Given the description of an element on the screen output the (x, y) to click on. 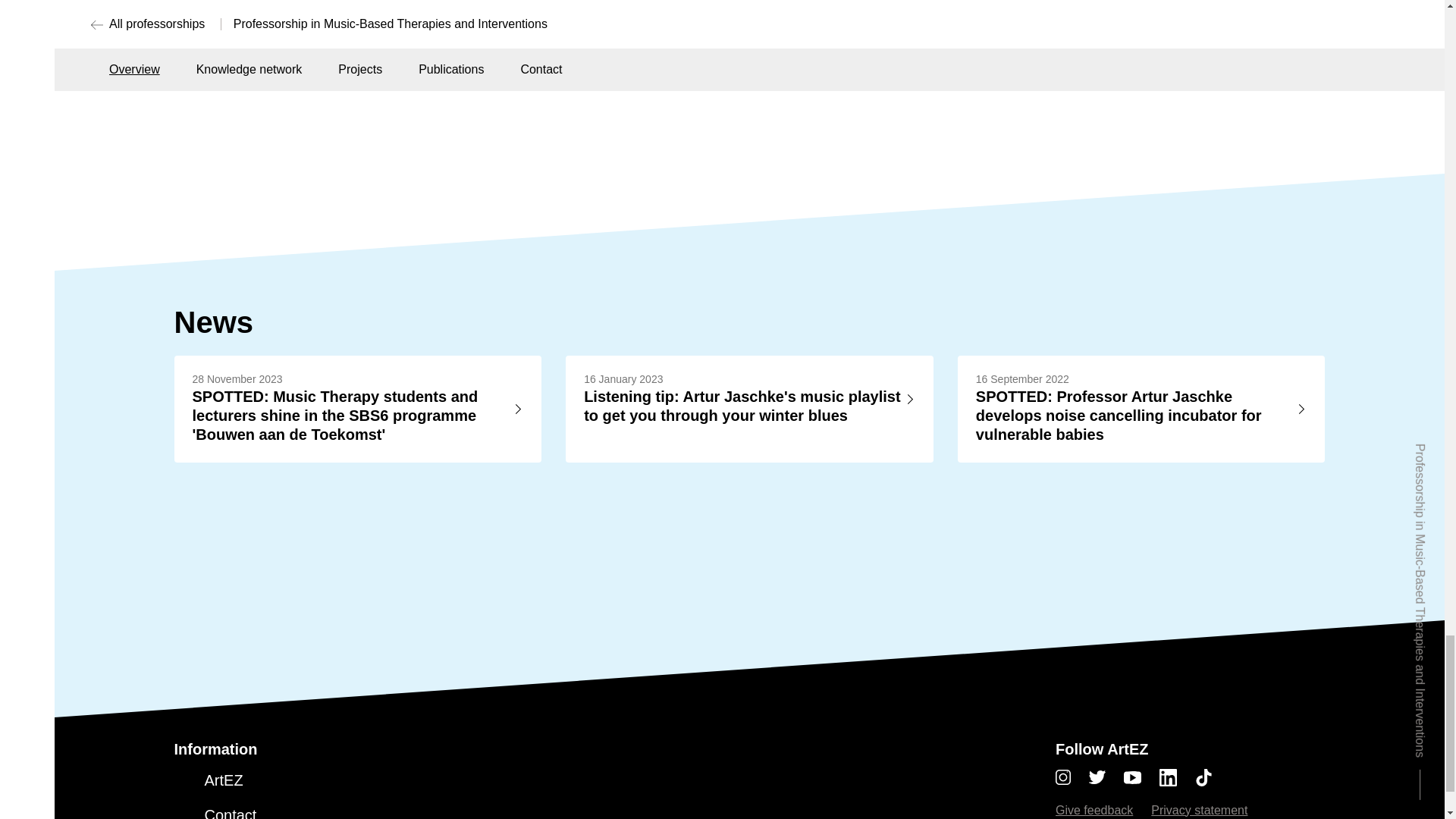
Instagram icon (1062, 776)
tiktok (1203, 777)
linkedin (1176, 777)
Privacy statement (1199, 809)
Contact (231, 812)
ArtEZ (224, 780)
youtube (1141, 777)
Give feedback (1093, 809)
instagram (1072, 777)
Twitter icon (1097, 777)
LinkedIn icon (1167, 777)
Read more on the professorship website (433, 72)
